Given the description of an element on the screen output the (x, y) to click on. 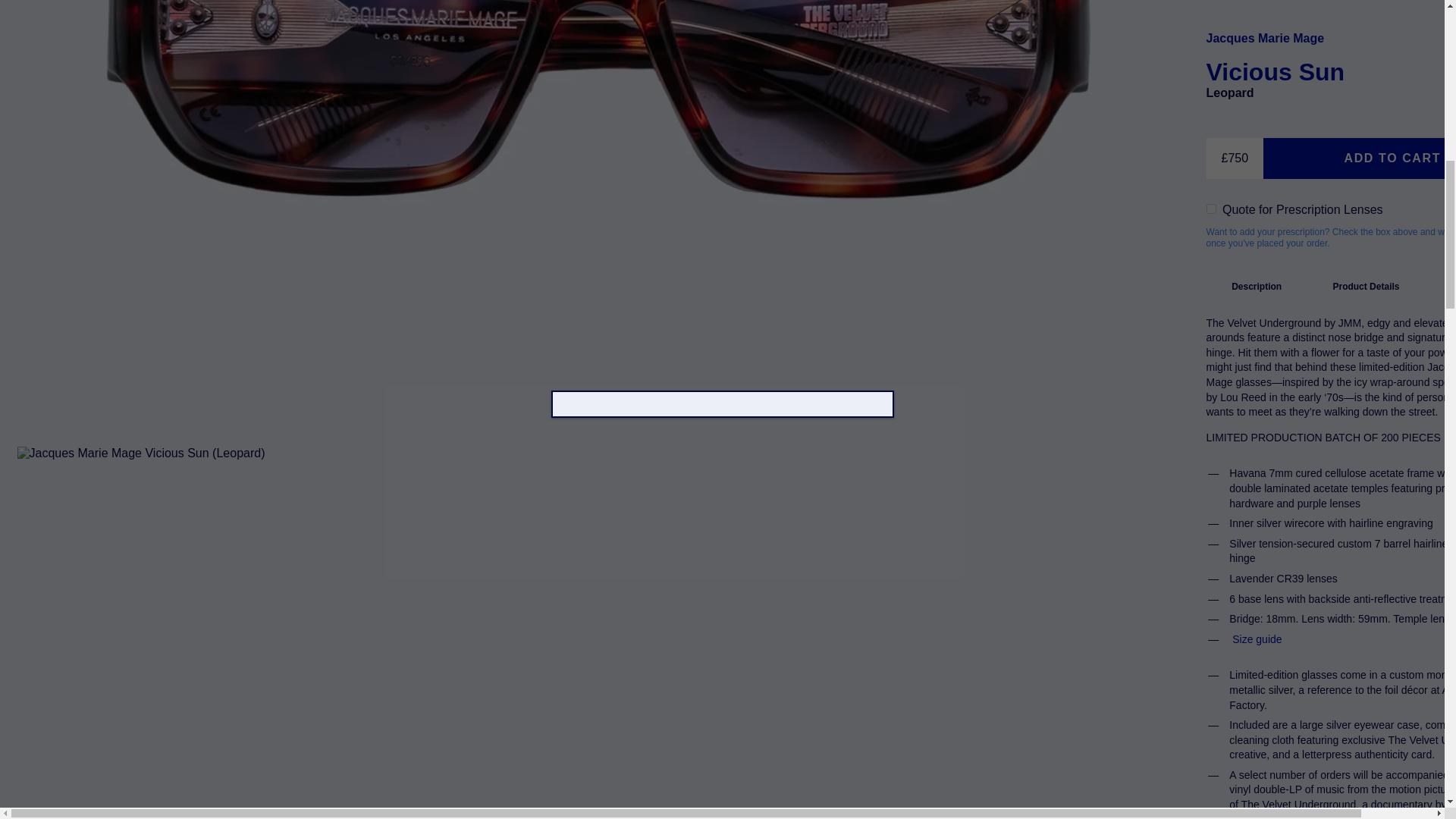
glasses size guide (1256, 200)
